Given the description of an element on the screen output the (x, y) to click on. 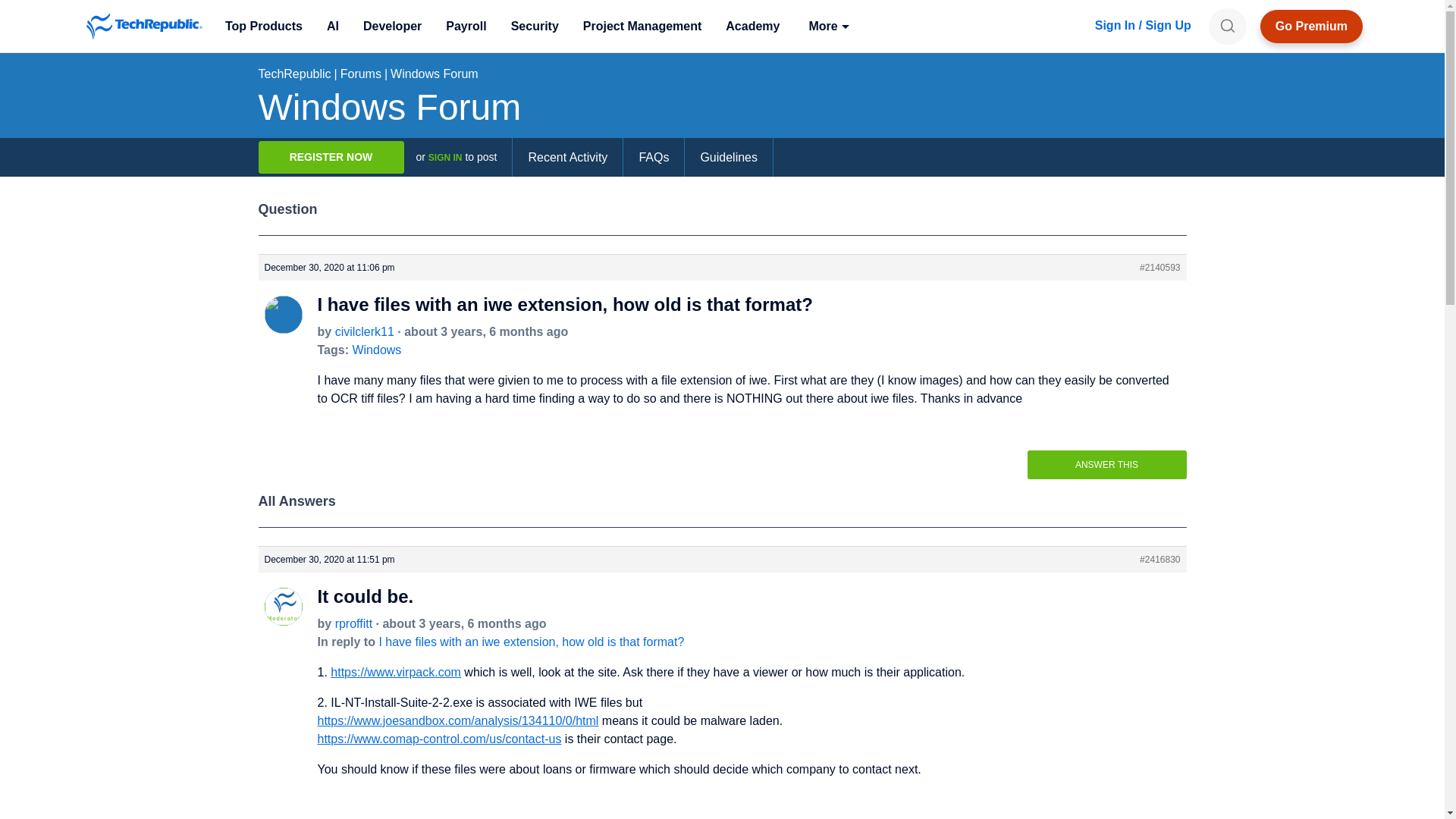
Go Premium (1311, 25)
REGISTER NOW (330, 156)
SIGN IN (445, 157)
Project Management (641, 26)
Academy (752, 26)
Forums (360, 73)
View rproffitt's profile (282, 618)
Top Products (263, 26)
TechRepublic (143, 25)
TechRepublic (293, 73)
FAQs (653, 157)
AI (332, 26)
Security (534, 26)
TechRepublic Premium (1311, 25)
TechRepublic (143, 25)
